Given the description of an element on the screen output the (x, y) to click on. 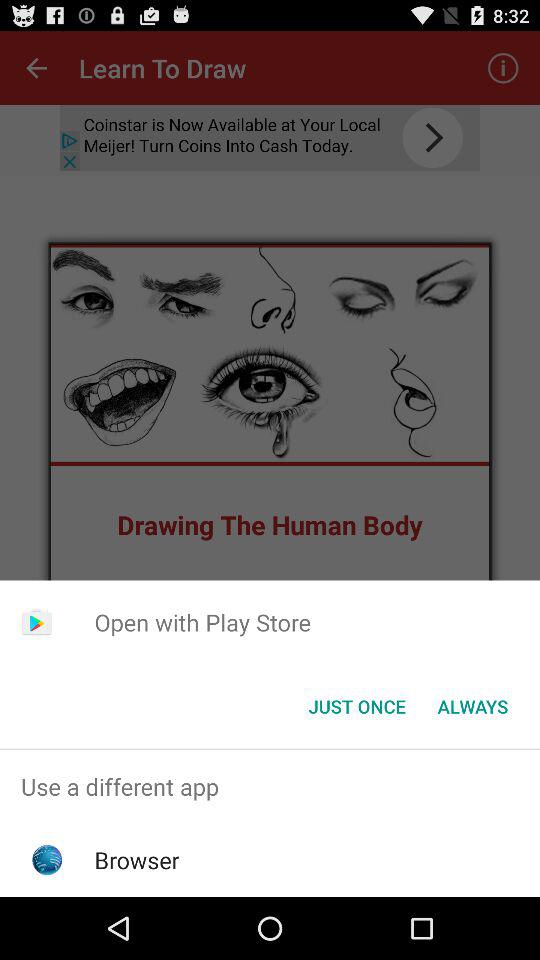
choose the use a different icon (270, 786)
